Given the description of an element on the screen output the (x, y) to click on. 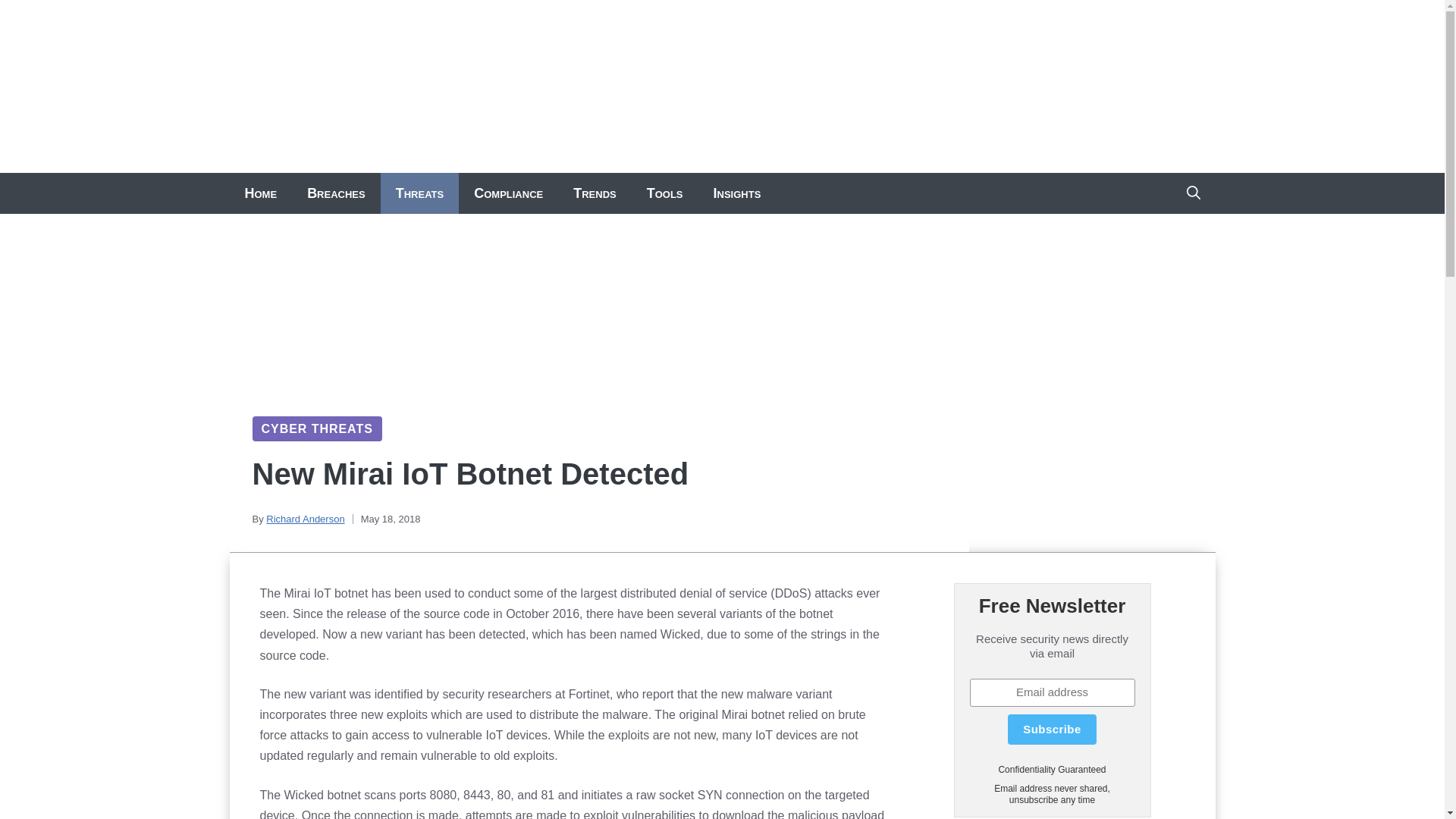
CYBER THREATS (316, 428)
Subscribe (1051, 729)
Home (260, 192)
Threats (419, 192)
Richard Anderson (304, 518)
Breaches (336, 192)
Compliance (507, 192)
Subscribe (1051, 729)
Insights (737, 192)
Trends (594, 192)
